Given the description of an element on the screen output the (x, y) to click on. 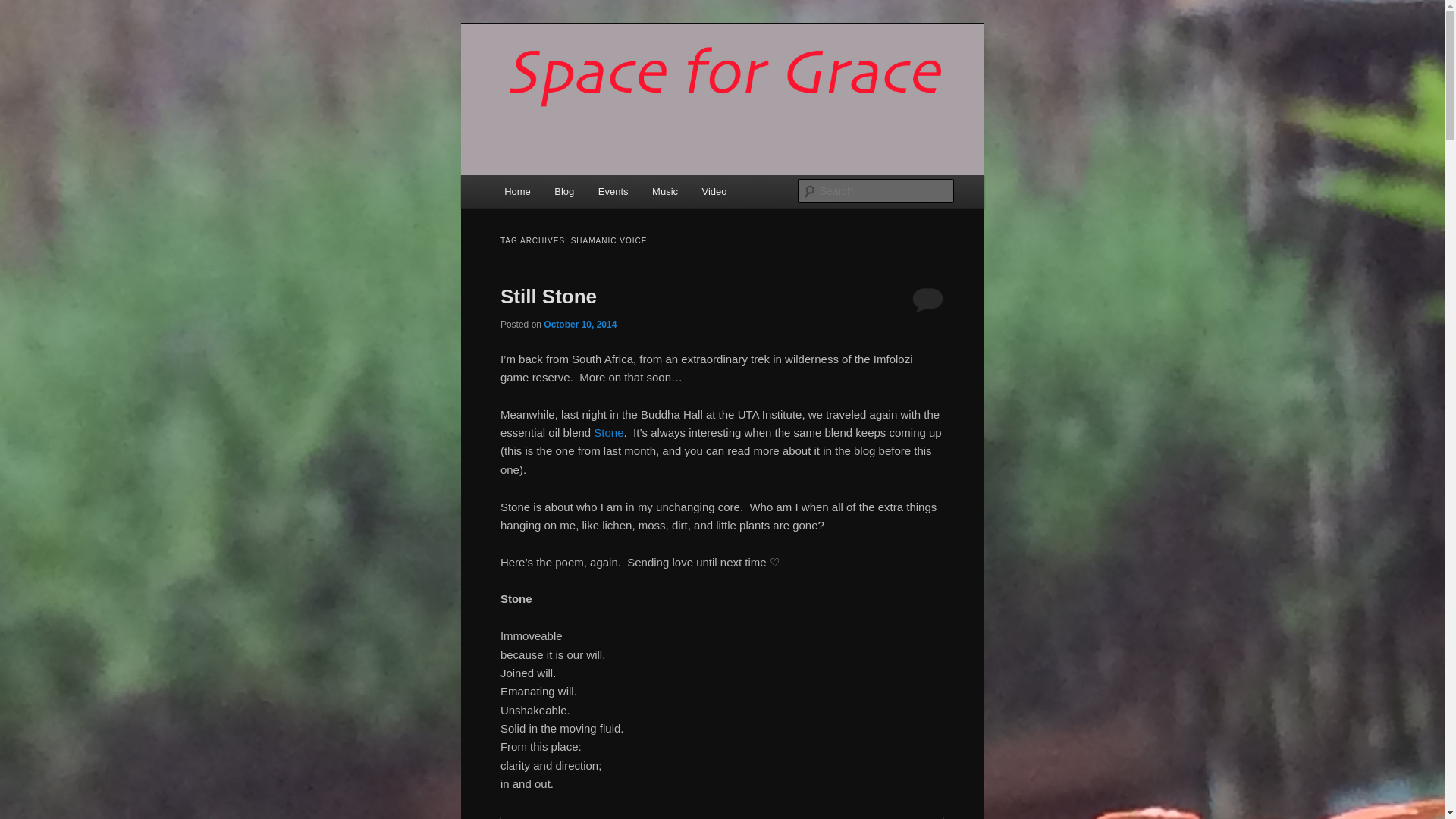
Music (664, 191)
Link to Scents of Knowing (608, 431)
Search (24, 8)
Events (613, 191)
Blog (564, 191)
Still Stone (548, 296)
09:07 (579, 324)
Video (714, 191)
Stone (608, 431)
Space for Grace (587, 78)
